Given the description of an element on the screen output the (x, y) to click on. 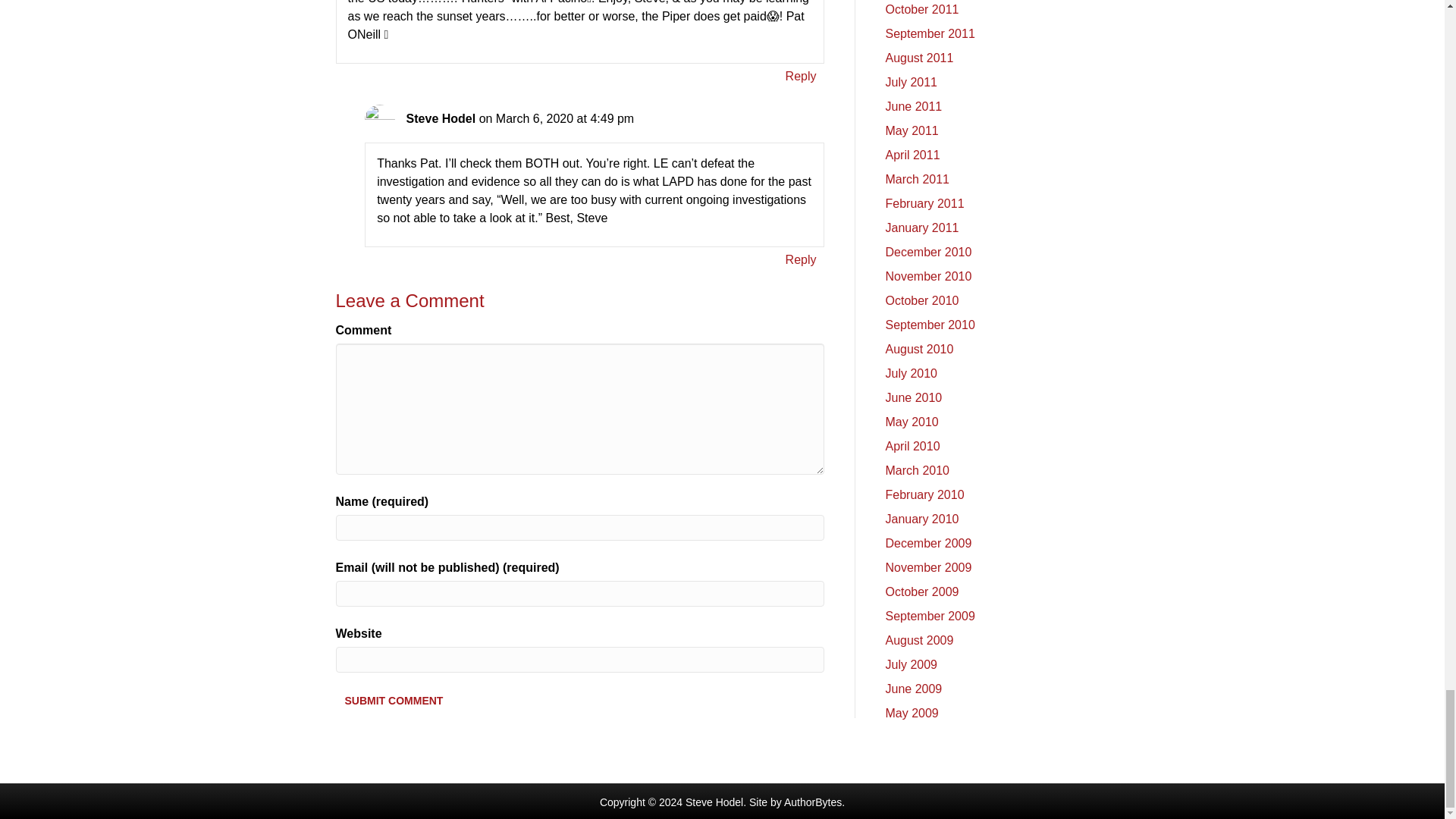
Submit Comment (392, 700)
Reply (801, 259)
Submit Comment (392, 700)
Reply (801, 76)
